Given the description of an element on the screen output the (x, y) to click on. 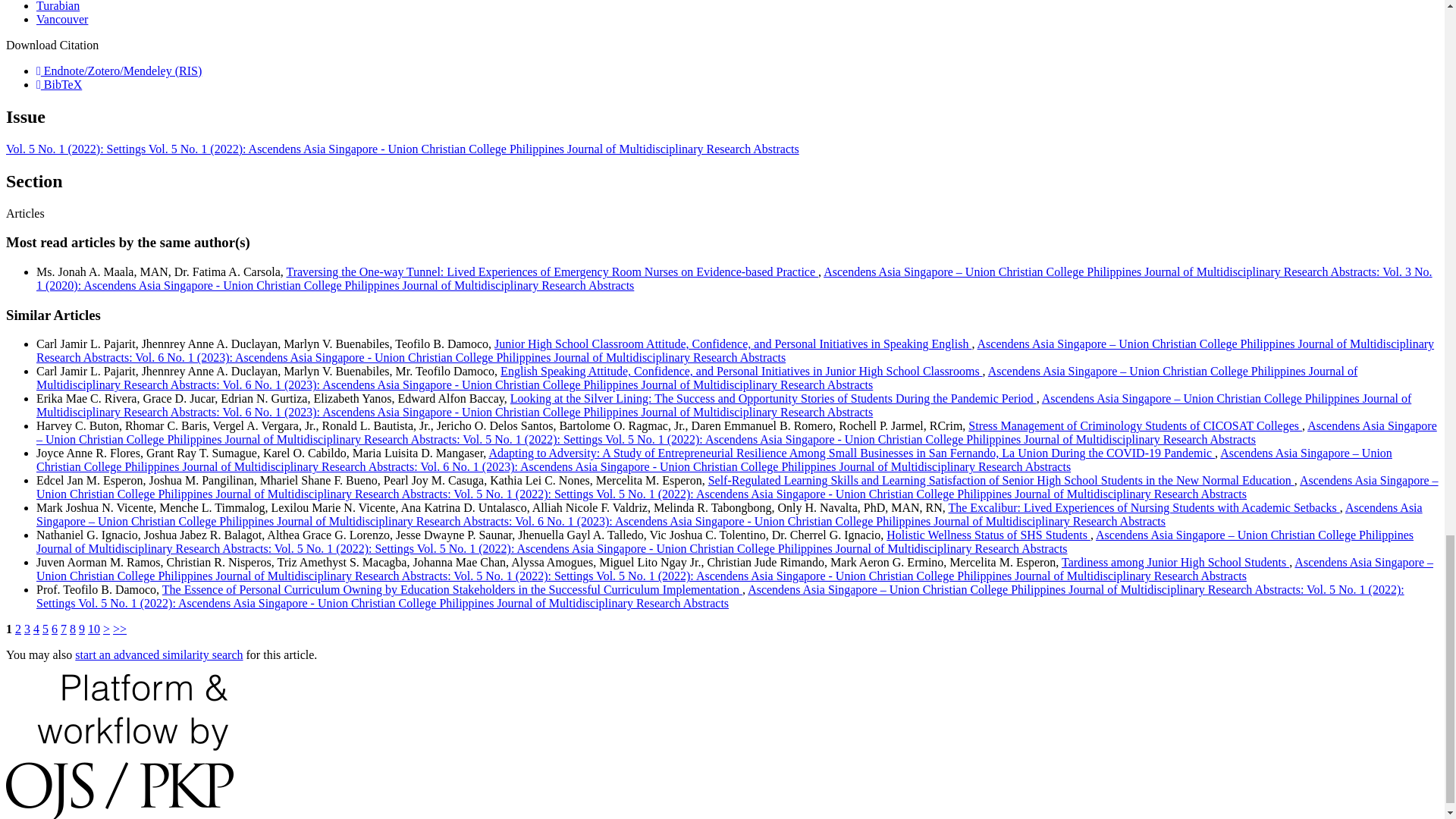
BibTeX (58, 83)
Turabian (58, 6)
Vancouver (61, 19)
Similar Articles (52, 314)
